Given the description of an element on the screen output the (x, y) to click on. 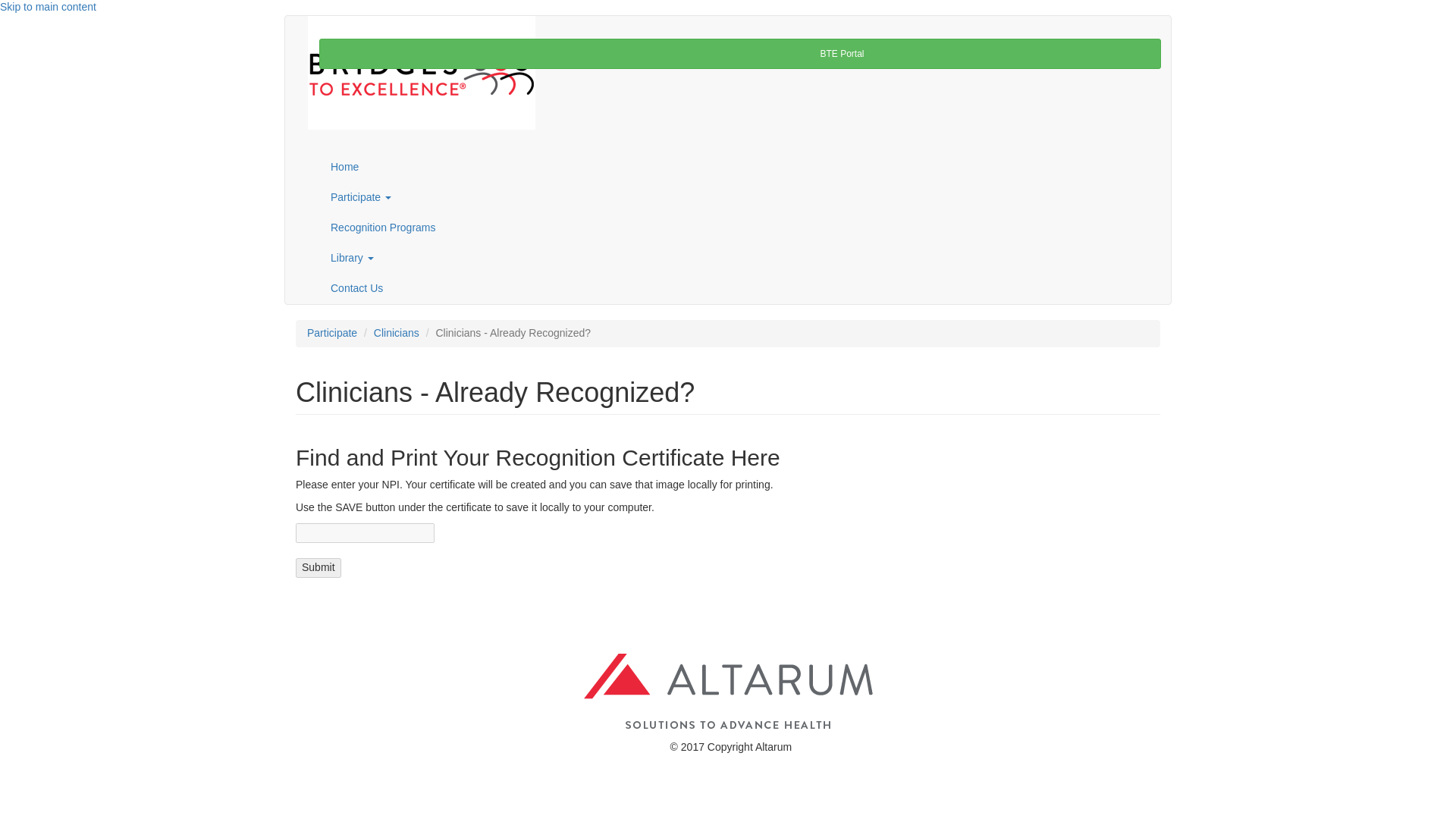
Clinicians (396, 272)
Skip to main content (48, 6)
Participate (739, 137)
Home (739, 106)
BTE Portal (739, 53)
Home (327, 23)
Contact Us (739, 227)
Participate (331, 272)
Library (739, 197)
Recognition Programs (739, 167)
